Given the description of an element on the screen output the (x, y) to click on. 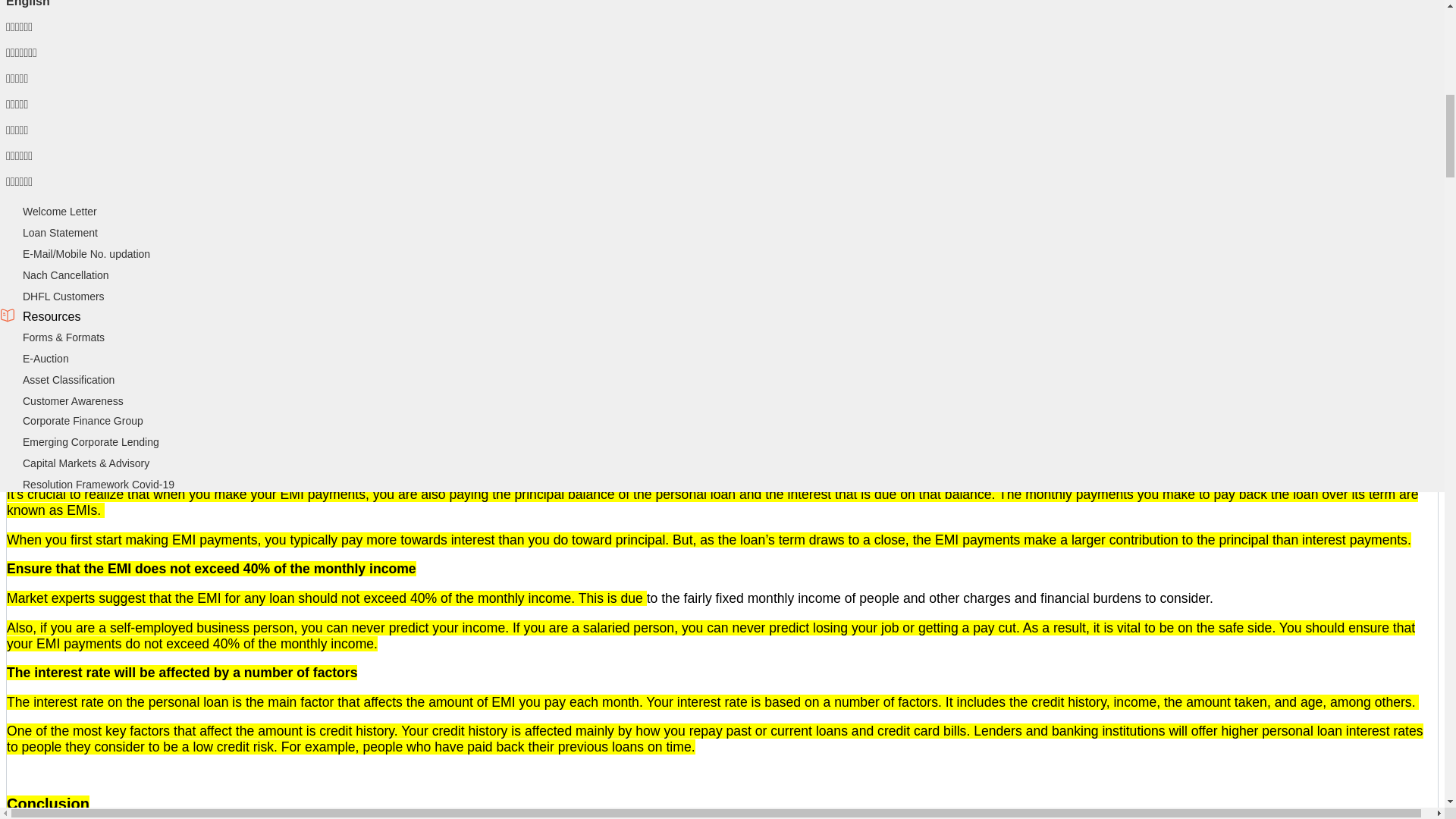
Personal Loan (56, 316)
Emerging Corporate Lending (90, 441)
Secured Business Loan (79, 232)
Group Loan (50, 358)
Business Loan (58, 190)
Corporate Finance Group (82, 420)
Pre-owned Car Loan (71, 337)
Loan Against Property (75, 211)
Frequently asked questions (87, 21)
Home Loan Interest Rate (82, 128)
Pradhan Mantri Awas Yojana (90, 149)
Loan Balance Transfer (76, 106)
Contact Us (49, 64)
Resolution Framework Covid-19 (98, 484)
Home Loan (50, 21)
